Given the description of an element on the screen output the (x, y) to click on. 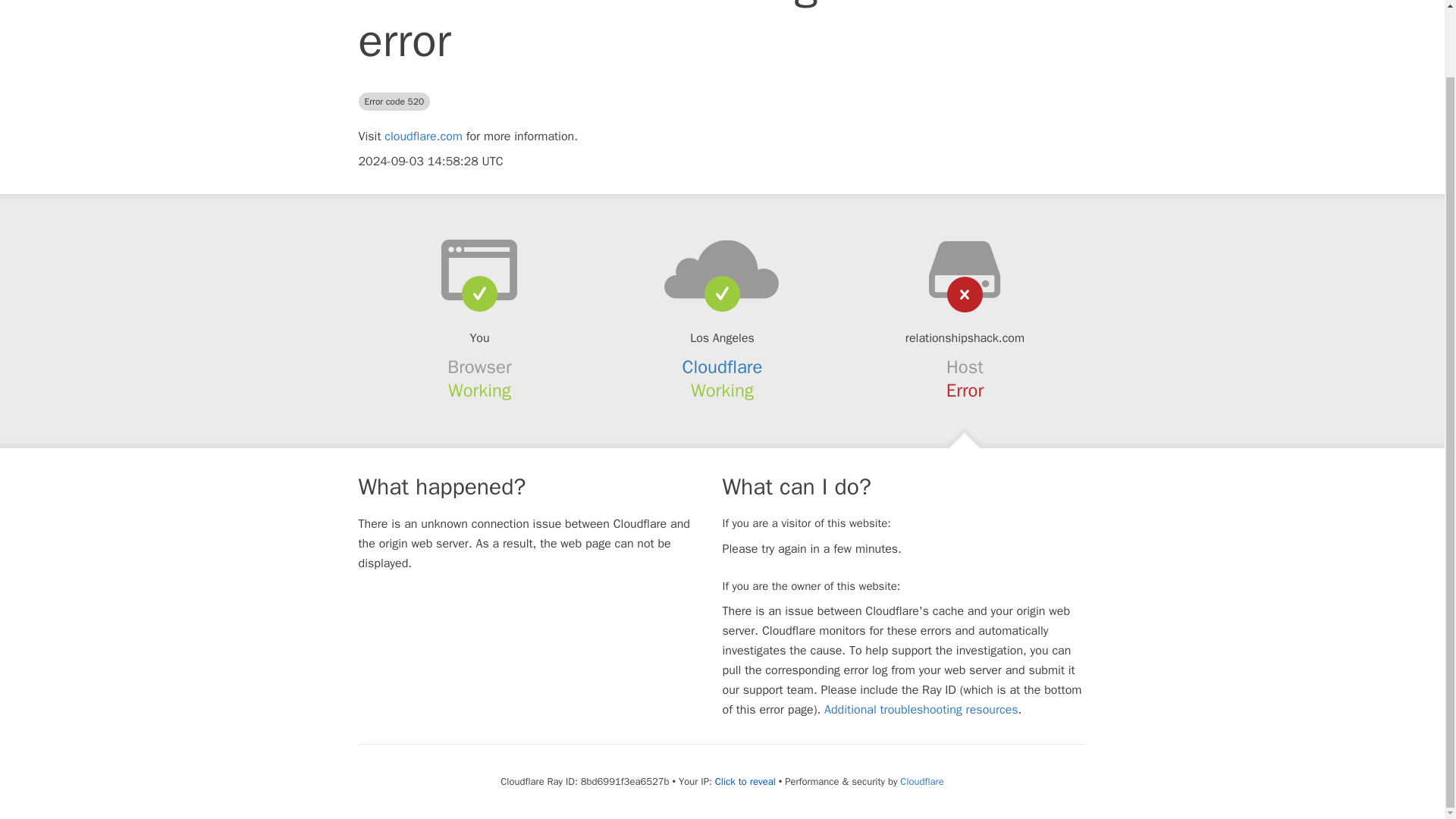
Cloudflare (722, 366)
cloudflare.com (423, 136)
Cloudflare (921, 780)
Additional troubleshooting resources (920, 709)
Click to reveal (745, 781)
